Given the description of an element on the screen output the (x, y) to click on. 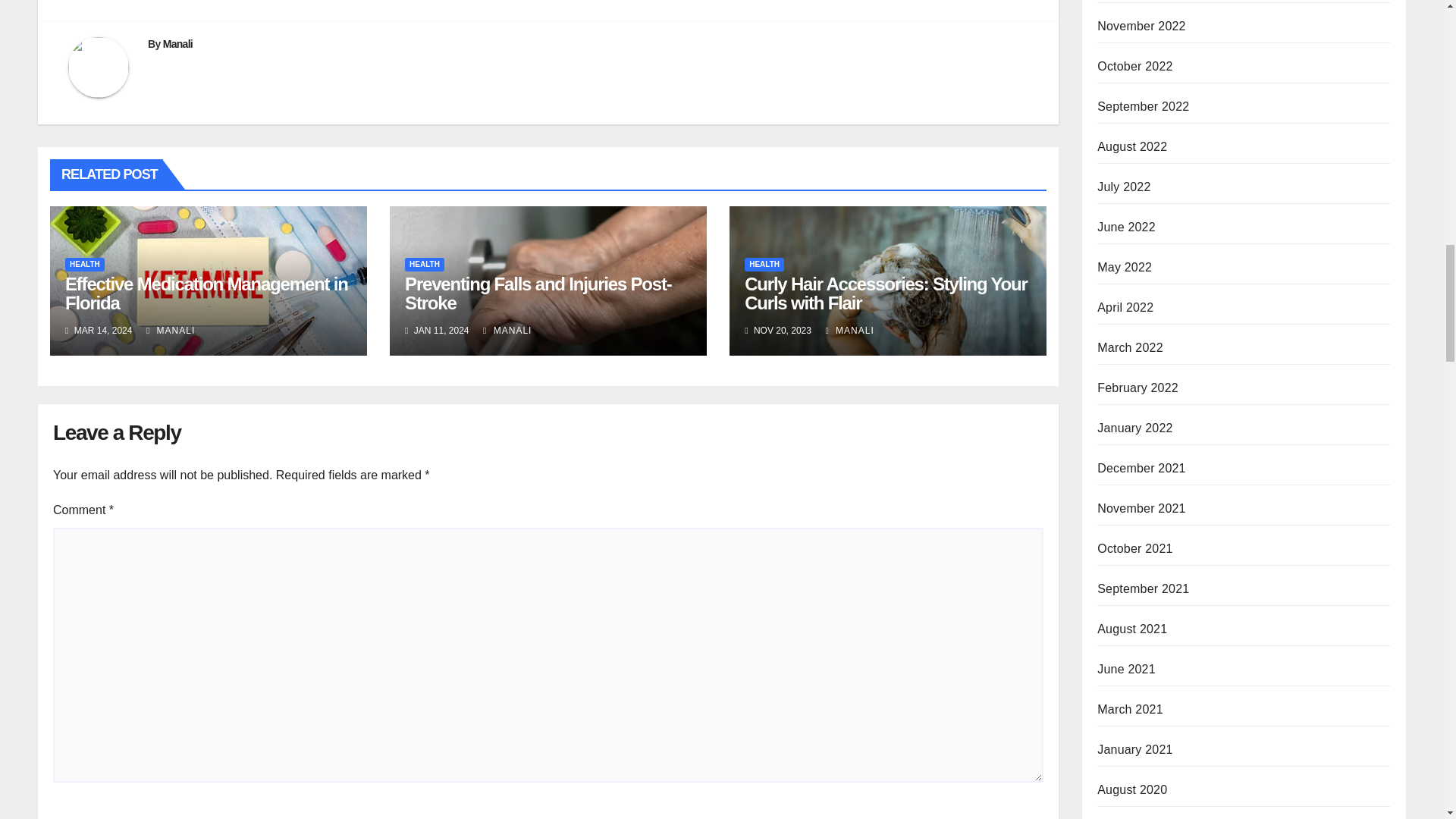
Manali (177, 43)
Curly Hair Accessories: Styling Your Curls with Flair (885, 292)
Effective Medication Management in Florida (206, 292)
HEALTH (84, 264)
Permalink to: Effective Medication Management in Florida (206, 292)
Permalink to: Preventing Falls and Injuries Post-Stroke (537, 292)
Preventing Falls and Injuries Post-Stroke (537, 292)
HEALTH (424, 264)
HEALTH (764, 264)
MANALI (507, 330)
MANALI (171, 330)
MANALI (849, 330)
